Given the description of an element on the screen output the (x, y) to click on. 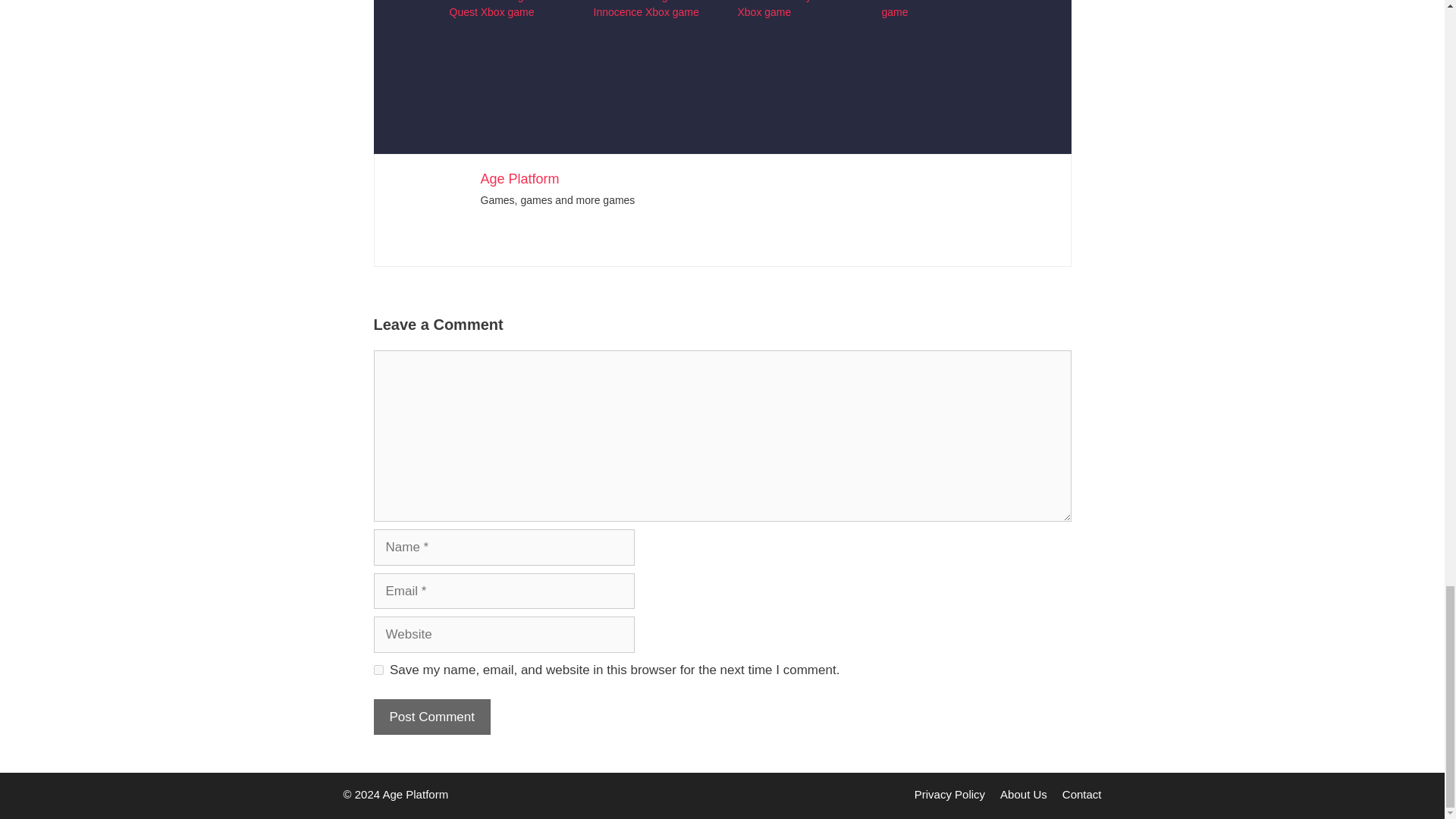
Contact (1082, 793)
Privacy Policy (949, 793)
All about A Plague Tale: Innocence Xbox game (648, 8)
All about 7 Days to Die Xbox game (649, 37)
All about Aaero Xbox game (929, 8)
Post Comment (430, 717)
All about A Boy and His Blob Xbox game (793, 37)
yes (377, 669)
All about A Way Out Xbox game (783, 8)
All about A KING'S TALE: FINAL FANTASY XV Xbox game (937, 37)
